Given the description of an element on the screen output the (x, y) to click on. 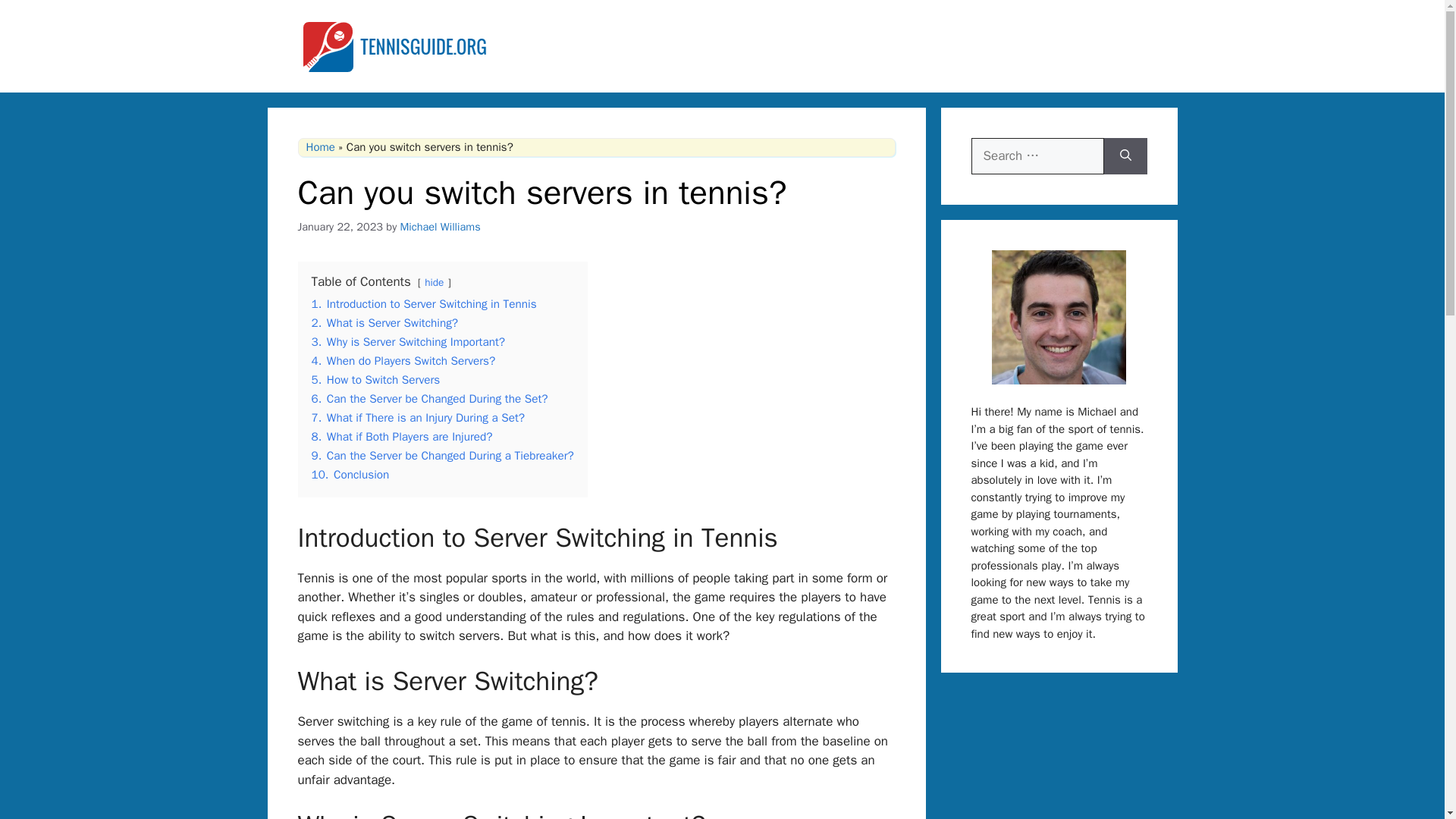
8. What if Both Players are Injured? (401, 436)
Home (319, 146)
Michael Williams (440, 226)
1. Introduction to Server Switching in Tennis (423, 304)
5. How to Switch Servers (375, 379)
4. When do Players Switch Servers? (403, 360)
6. Can the Server be Changed During the Set? (429, 398)
10. Conclusion (349, 474)
Search for: (1037, 156)
3. Why is Server Switching Important? (408, 341)
